Given the description of an element on the screen output the (x, y) to click on. 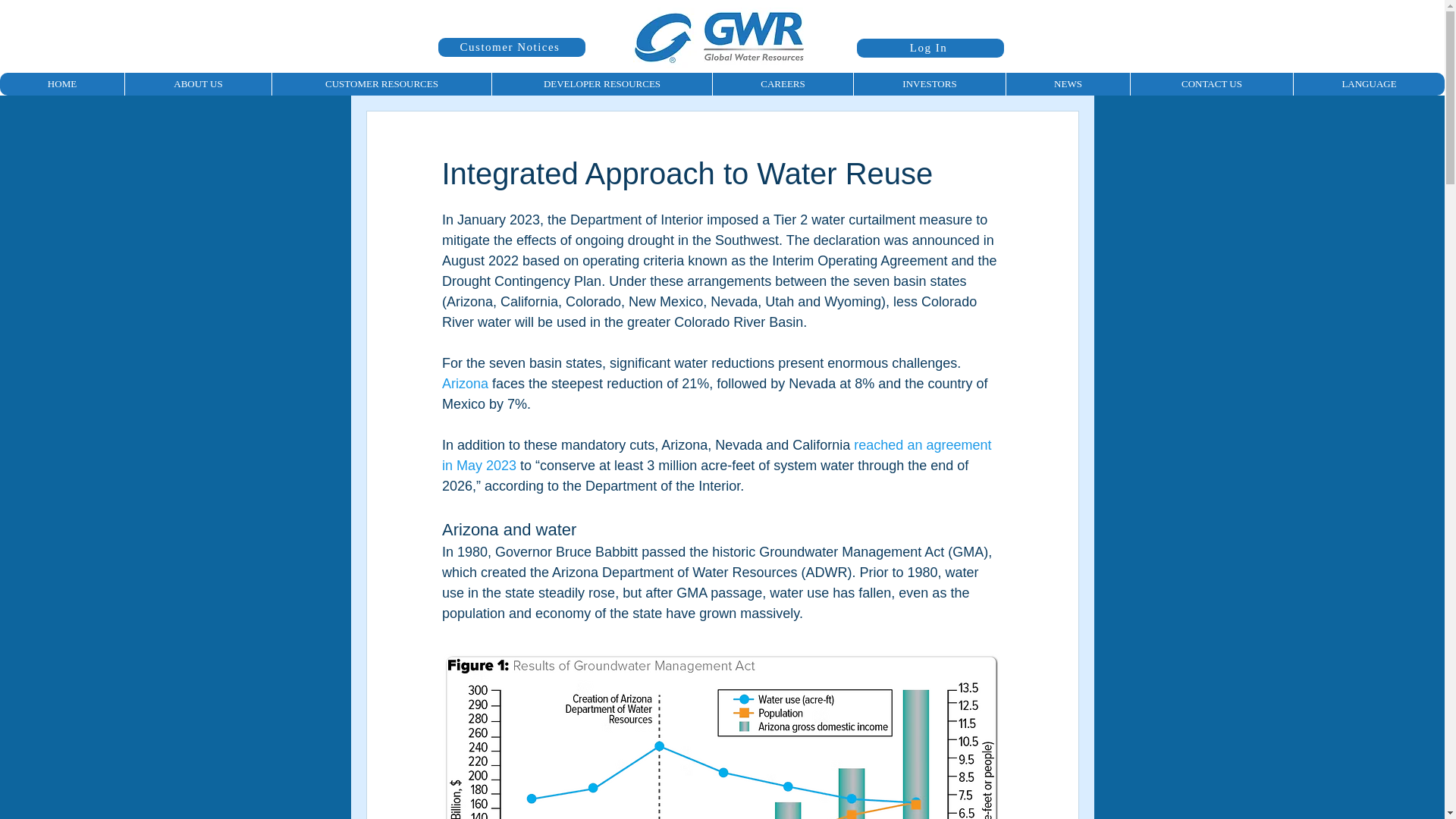
CAREERS (782, 83)
HOME (61, 83)
Customer Notices (511, 46)
Log In (930, 47)
DEVELOPER RESOURCES (601, 83)
